Given the description of an element on the screen output the (x, y) to click on. 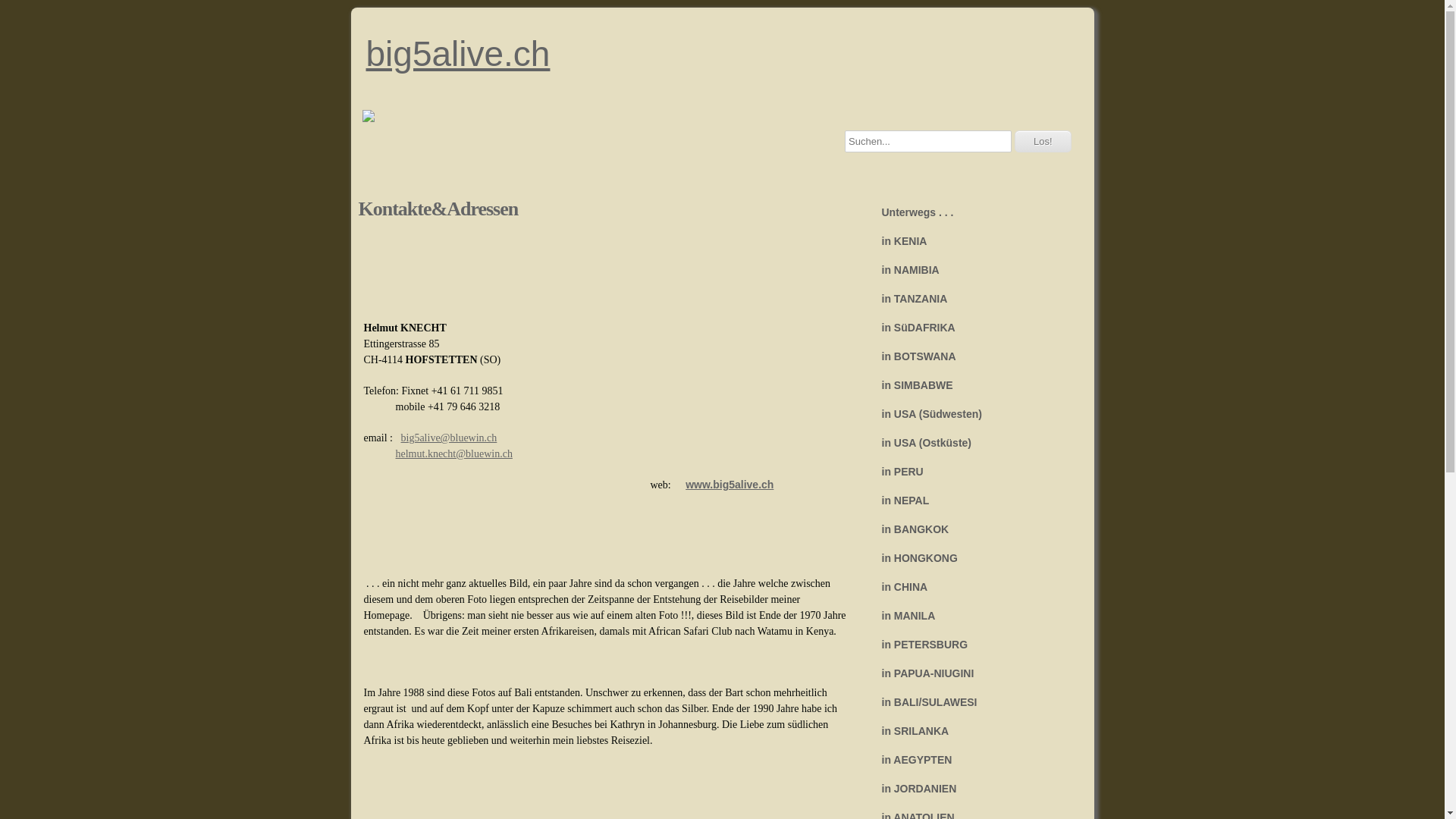
in CHINA Element type: text (972, 586)
in NEPAL Element type: text (972, 500)
auf Bali 1988 Element type: hover (486, 671)
in MANILA Element type: text (972, 615)
in HONGKONG Element type: text (972, 557)
helmut.knecht@bluewin.ch Element type: text (453, 453)
big5alive@bluewin.ch Element type: text (448, 437)
in PAPUA-NIUGINI Element type: text (972, 673)
in JORDANIEN Element type: text (972, 788)
in BANGKOK Element type: text (972, 529)
auf Bali 1988 Element type: hover (728, 671)
in AEGYPTEN Element type: text (972, 759)
in NAMIBIA Element type: text (972, 269)
in BOTSWANA Element type: text (972, 356)
Unterwegs . . . Element type: text (972, 212)
in PETERSBURG Element type: text (972, 644)
in SIMBABWE Element type: text (972, 385)
in TANZANIA Element type: text (972, 298)
in SRILANKA Element type: text (972, 730)
Los! Element type: text (1042, 141)
in BALI/SULAWESI Element type: text (972, 702)
big5alive.ch Element type: text (721, 53)
www.big5alive.ch Element type: text (729, 484)
in PERU Element type: text (972, 471)
in KENIA Element type: text (972, 240)
